Given the description of an element on the screen output the (x, y) to click on. 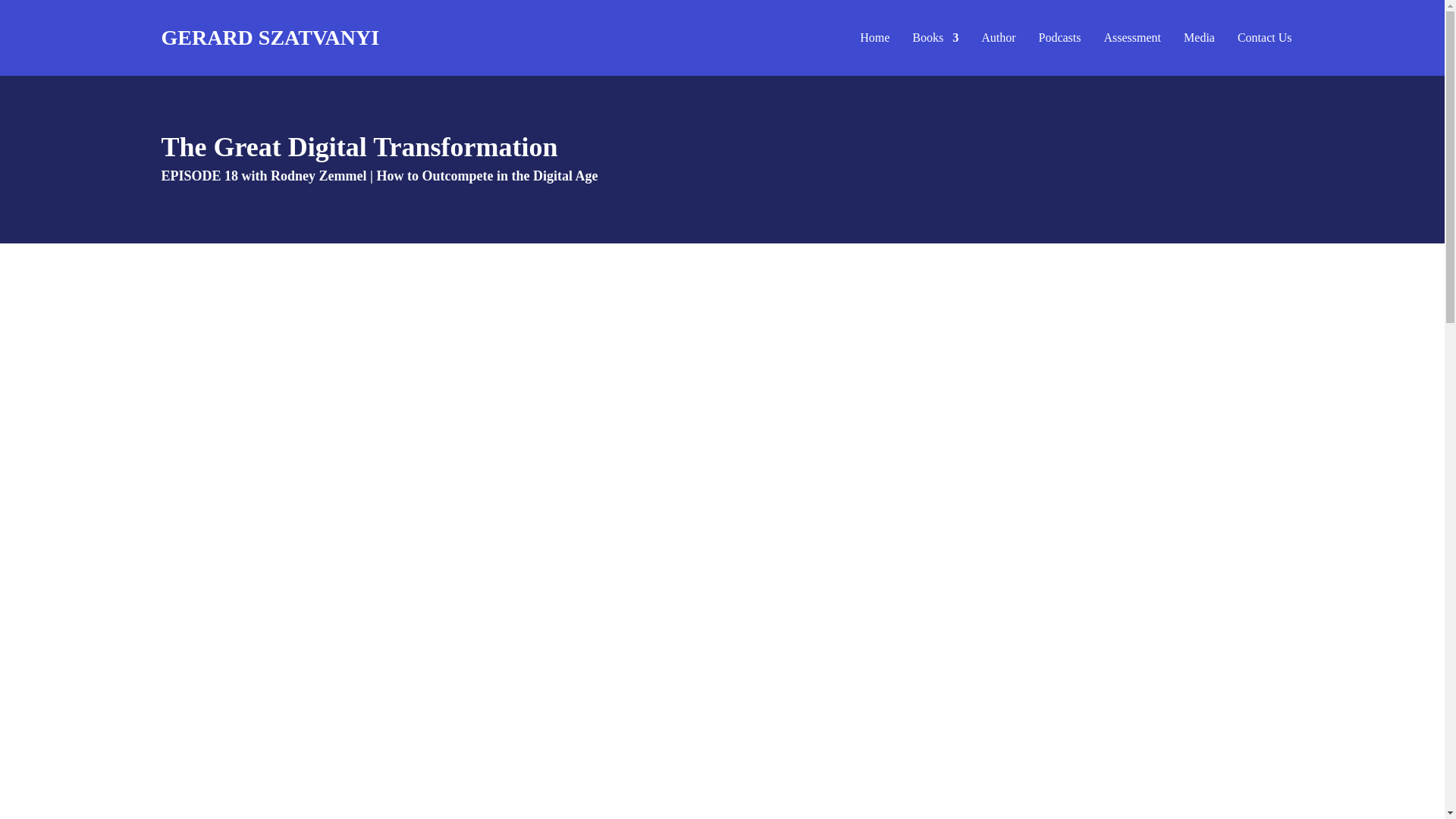
Books (935, 37)
Assessment (1132, 37)
Podcasts (1060, 37)
Author (997, 37)
Contact Us (1264, 37)
Home (874, 37)
Media (1198, 37)
